Given the description of an element on the screen output the (x, y) to click on. 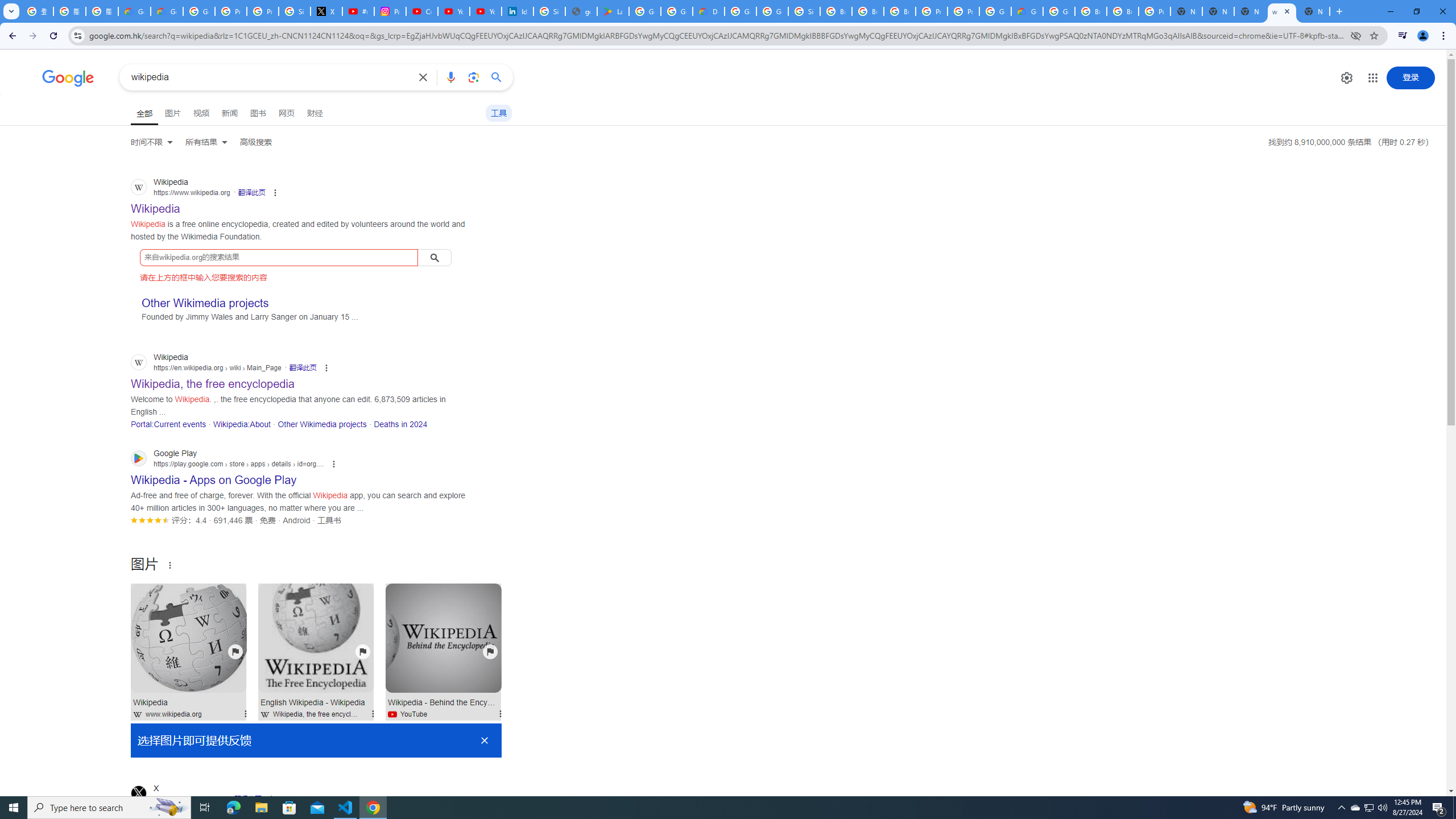
Sign in - Google Accounts (294, 11)
New Tab (1313, 11)
YouTube Culture & Trends - YouTube Top 10, 2021 (485, 11)
